Given the description of an element on the screen output the (x, y) to click on. 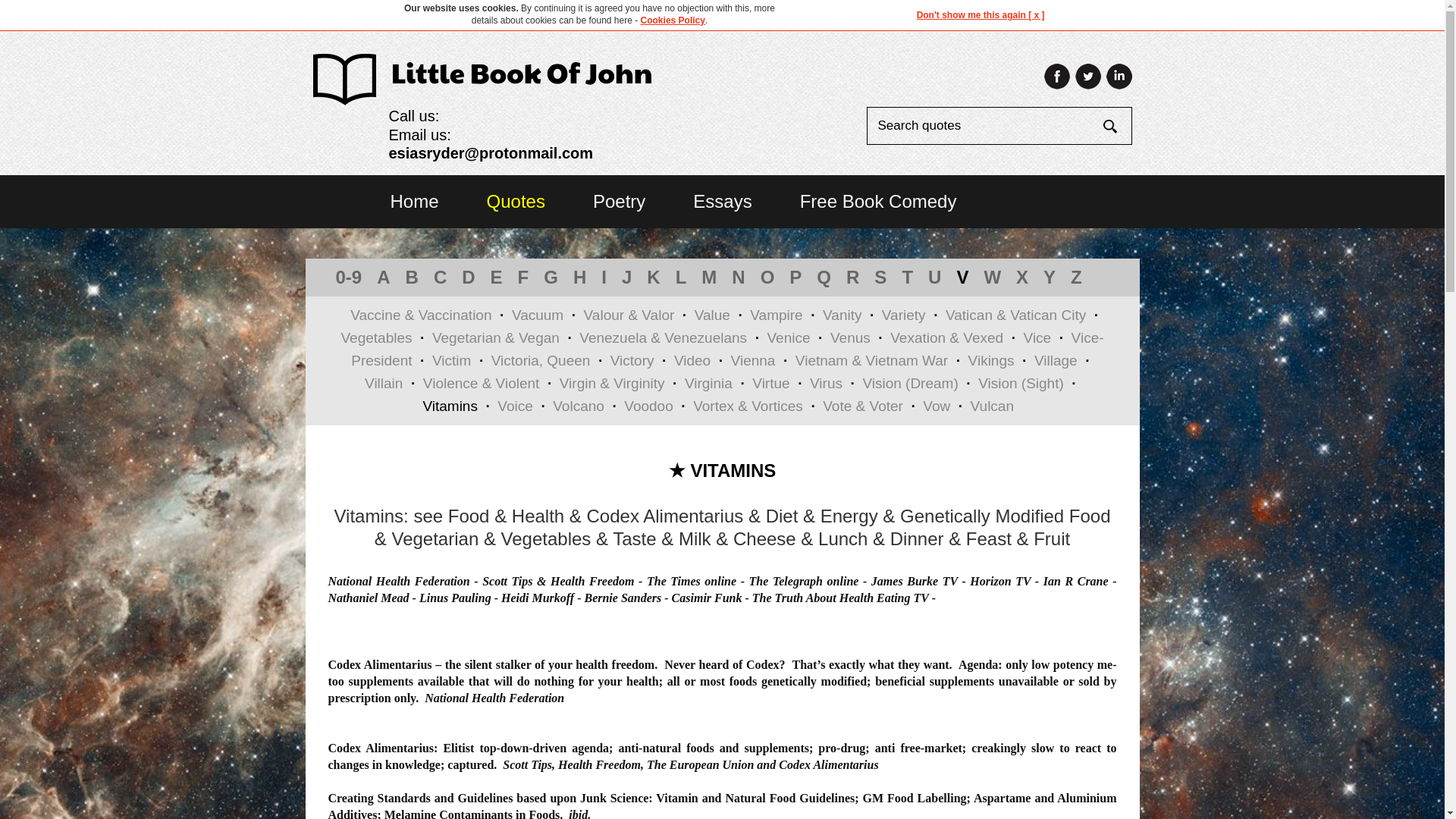
Home (414, 200)
Essays (722, 200)
Free Book Comedy (877, 200)
Quotes (515, 200)
Search quotes (983, 126)
Poetry (618, 200)
